Given the description of an element on the screen output the (x, y) to click on. 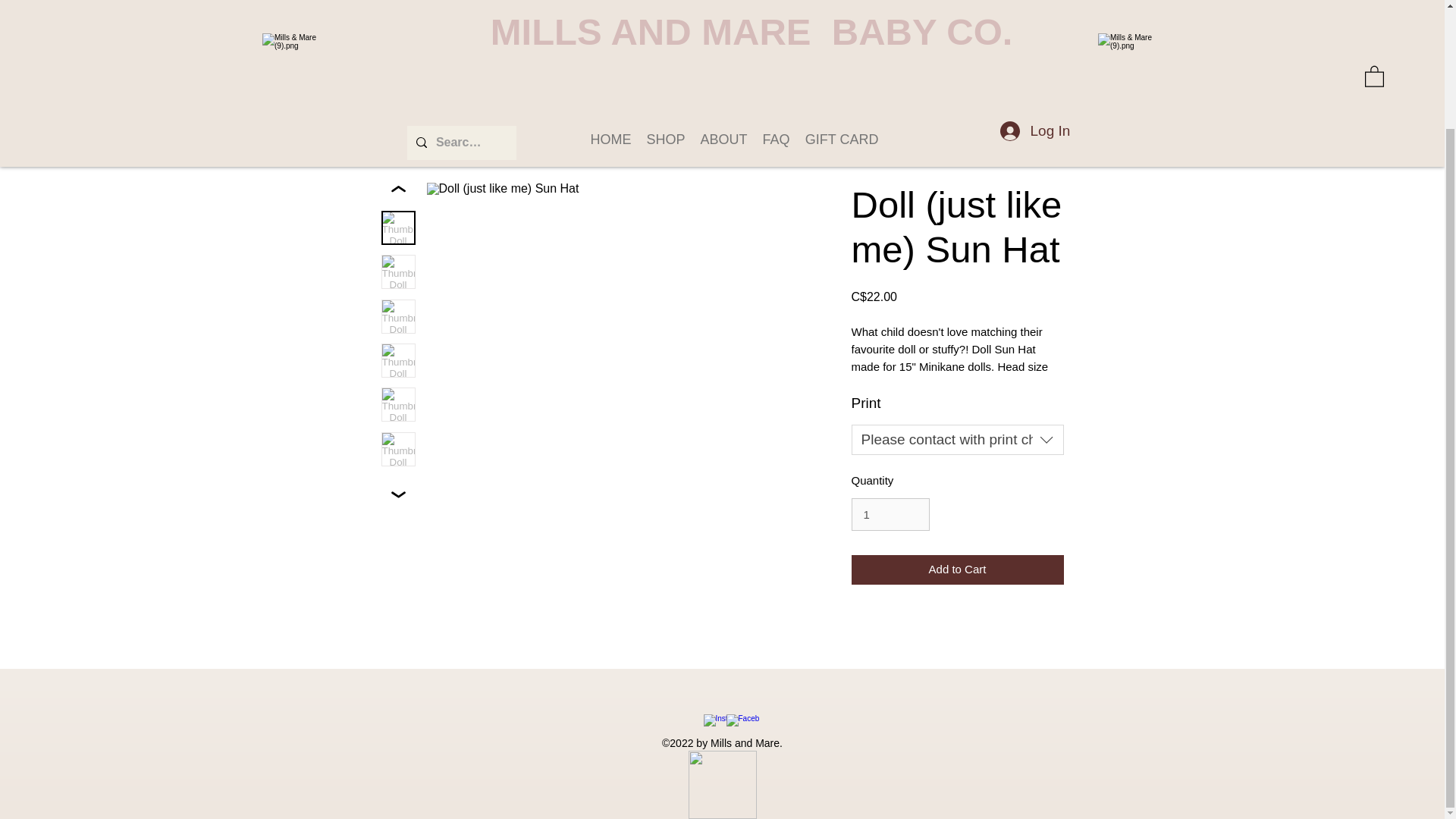
SHOP (666, 9)
FAQ (776, 9)
Please contact with print choice (956, 440)
1 (890, 514)
Add to Cart (956, 569)
HOME (610, 9)
GIFT CARD (841, 9)
Log In (1034, 3)
ABOUT (724, 9)
